Given the description of an element on the screen output the (x, y) to click on. 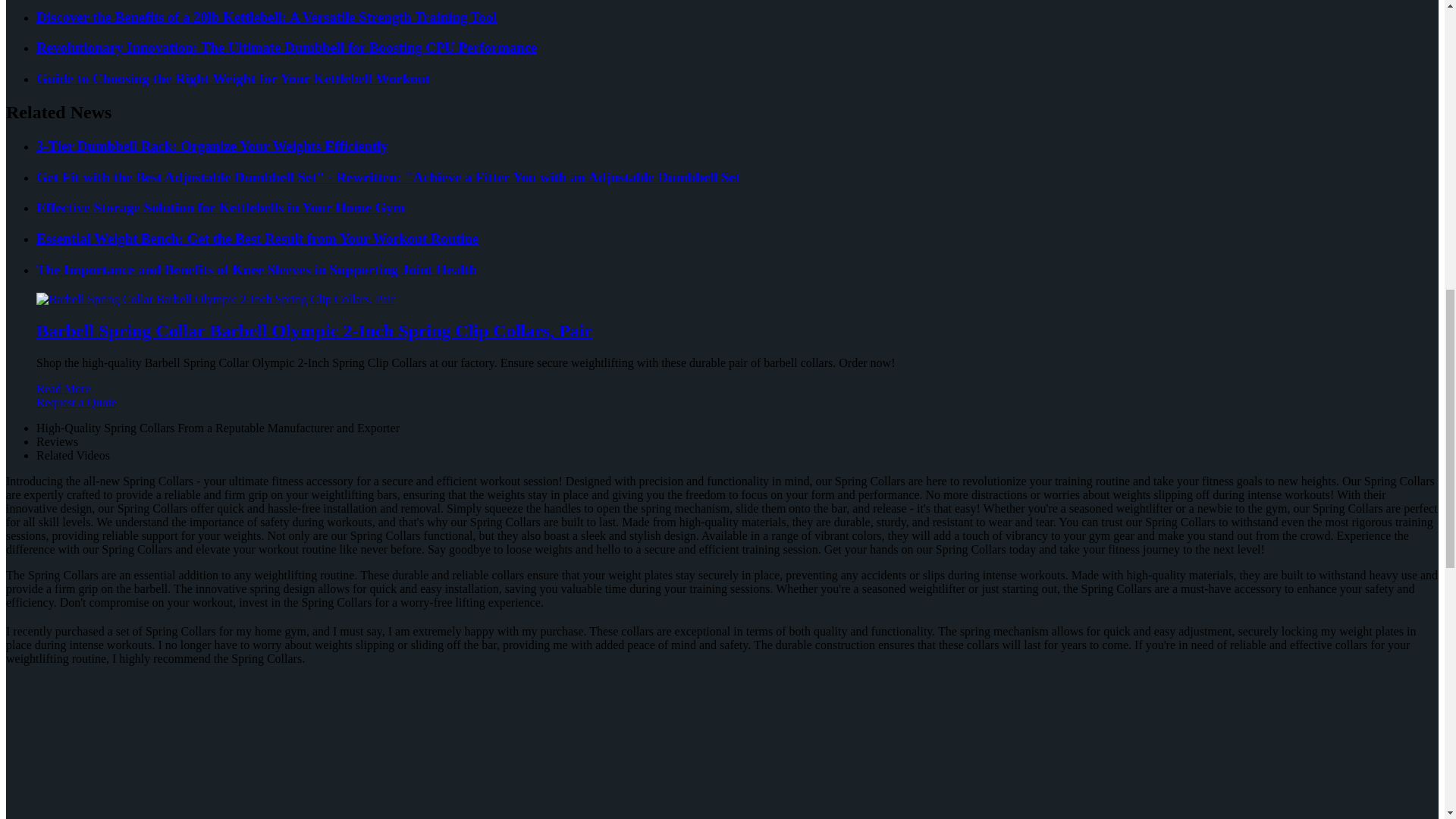
Request a Quote (721, 409)
Read More (63, 388)
